Given the description of an element on the screen output the (x, y) to click on. 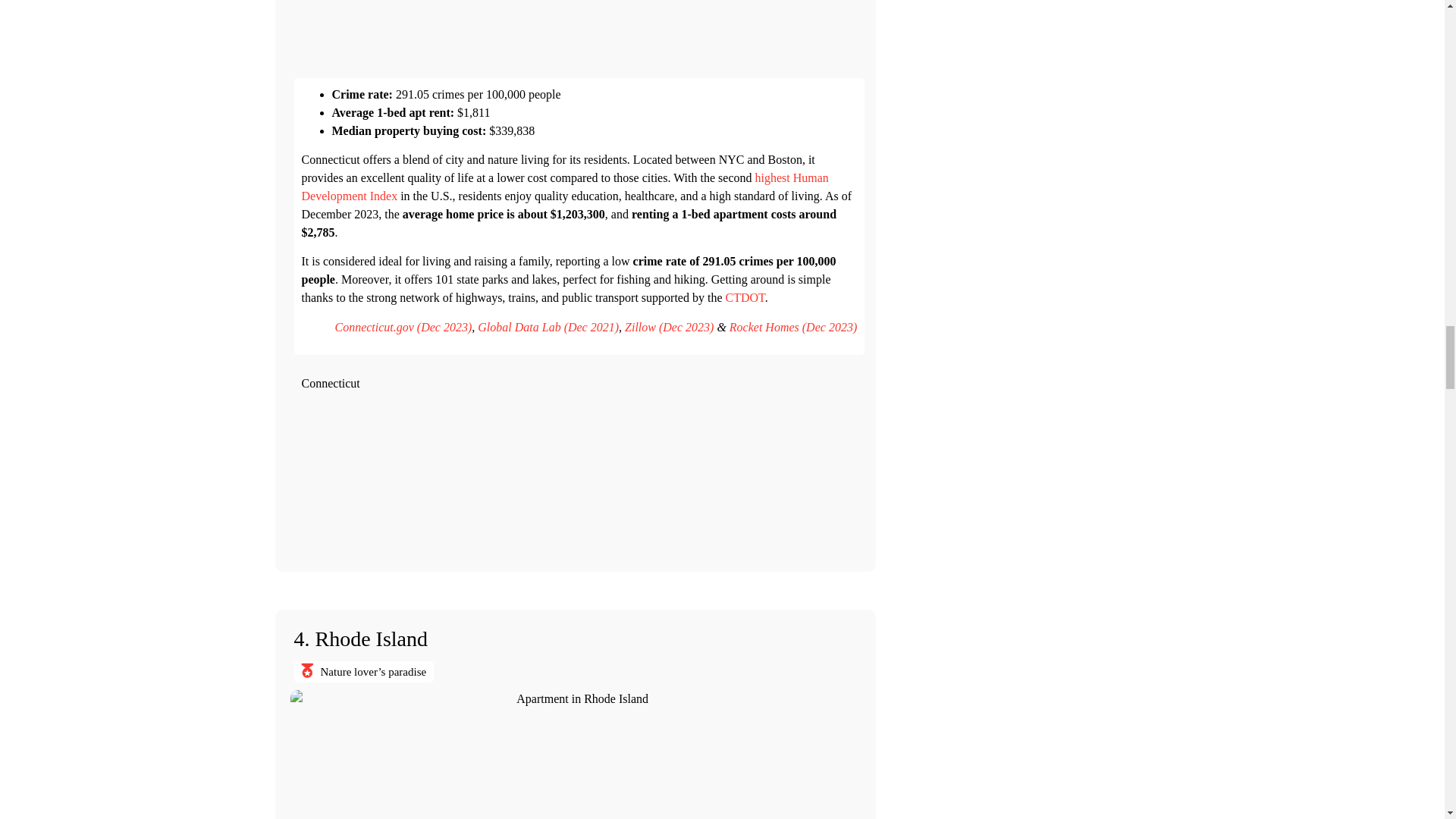
highest Human Development Index (564, 186)
Connecticut (579, 474)
